Given the description of an element on the screen output the (x, y) to click on. 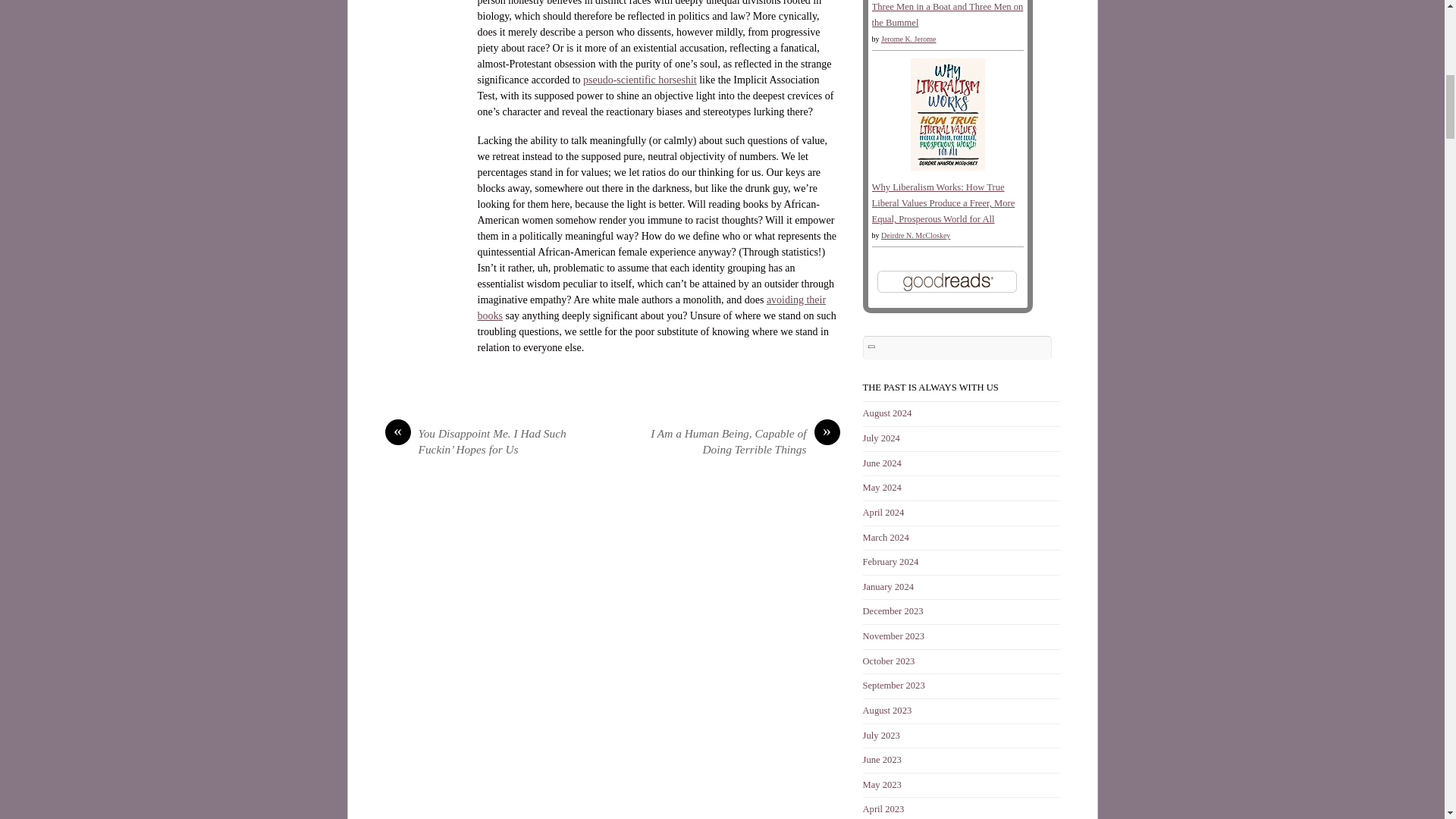
Deirdre N. McCloskey (915, 234)
December 2023 (893, 611)
May 2024 (882, 487)
June 2024 (882, 462)
August 2023 (887, 710)
April 2024 (883, 511)
March 2024 (885, 537)
avoiding their books (652, 307)
Search (957, 347)
